Given the description of an element on the screen output the (x, y) to click on. 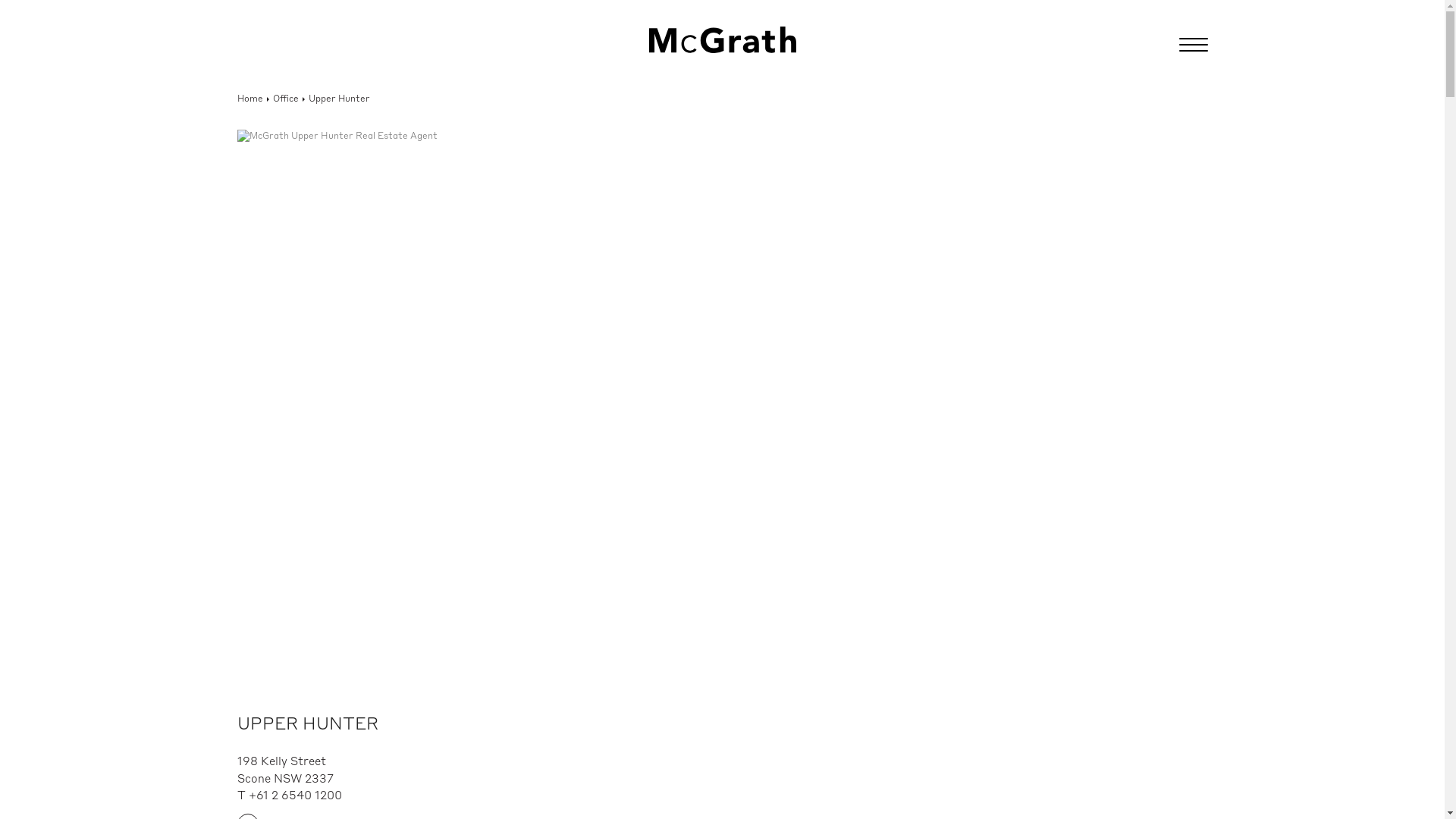
Office Element type: text (285, 98)
Upper Hunter Element type: text (338, 98)
+61 2 6540 1200 Element type: text (295, 796)
Home Element type: text (249, 98)
